Given the description of an element on the screen output the (x, y) to click on. 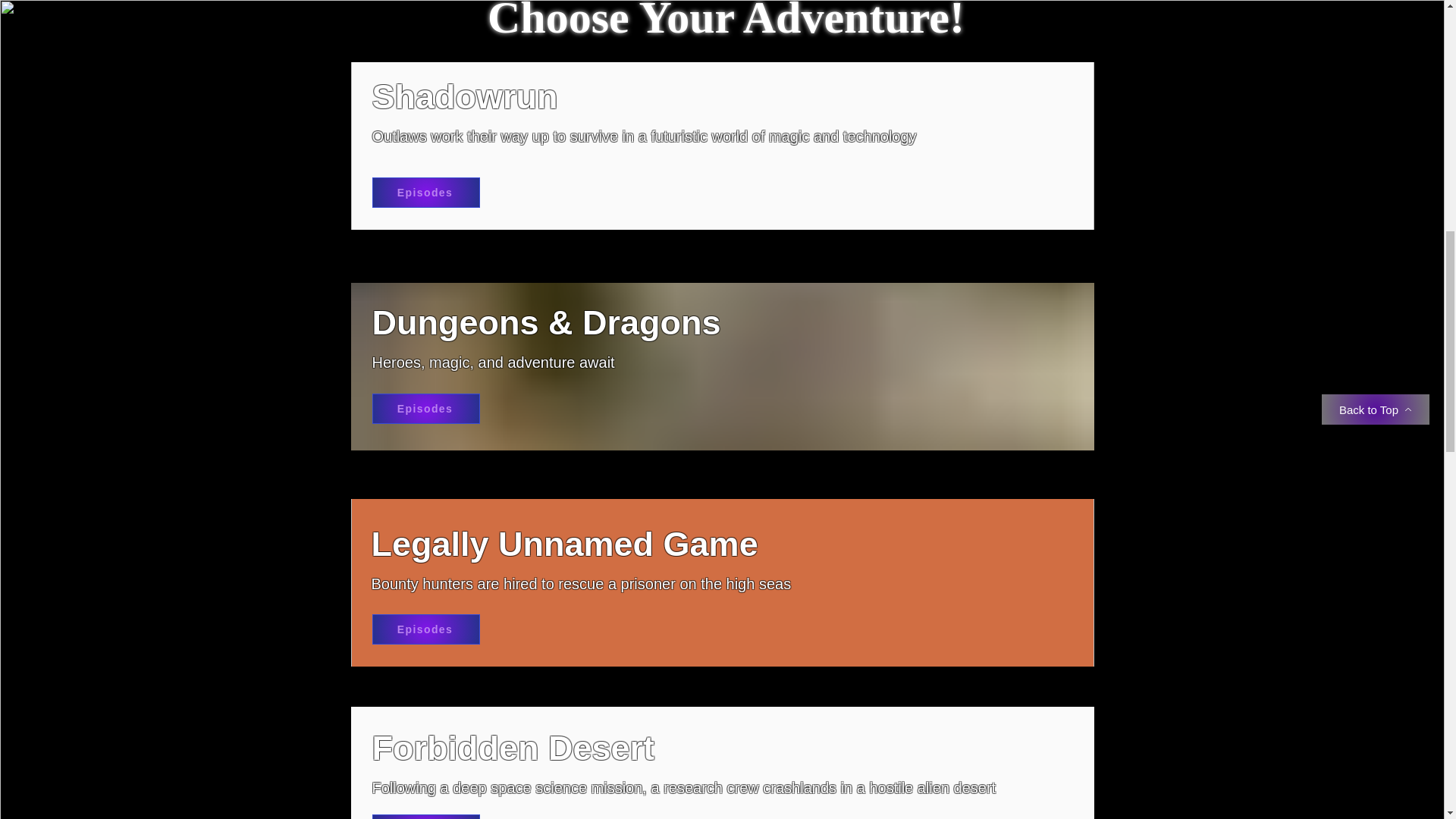
Episodes (425, 629)
Episodes (425, 816)
Episodes (425, 408)
Episodes (425, 192)
